Given the description of an element on the screen output the (x, y) to click on. 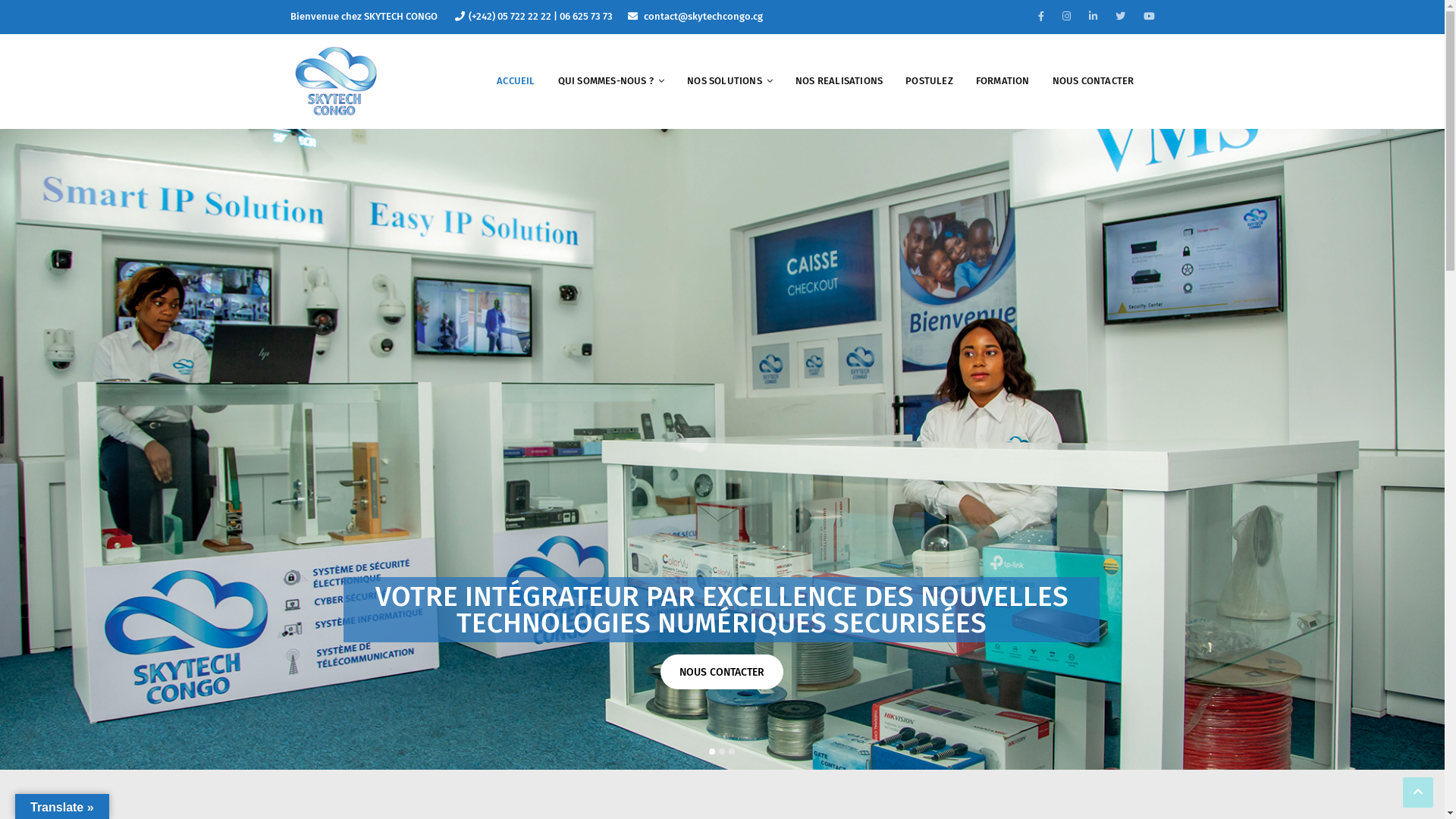
QUI SOMMES-NOUS ? Element type: text (611, 81)
NOS SOLUTIONS Element type: text (729, 81)
NOUS CONTACTER Element type: text (721, 671)
NOS REALISATIONS Element type: text (839, 81)
https://www.facebook.com/skytechcongo/ Element type: hover (1040, 15)
NOUS CONTACTER Element type: text (1093, 81)
"""#""" Element type: hover (1148, 15)
FORMATION Element type: text (1002, 81)
ACCUEIL Element type: text (515, 81)
POSTULEZ Element type: text (929, 81)
https://www.linkedin.com/company/skytech-congo Element type: hover (1092, 15)
https://www.instagram.com/skytechcongo/ Element type: hover (1065, 15)
https://twitter.com/congoskytech Element type: hover (1119, 15)
SKYTECH CONGO Element type: hover (334, 78)
